Given the description of an element on the screen output the (x, y) to click on. 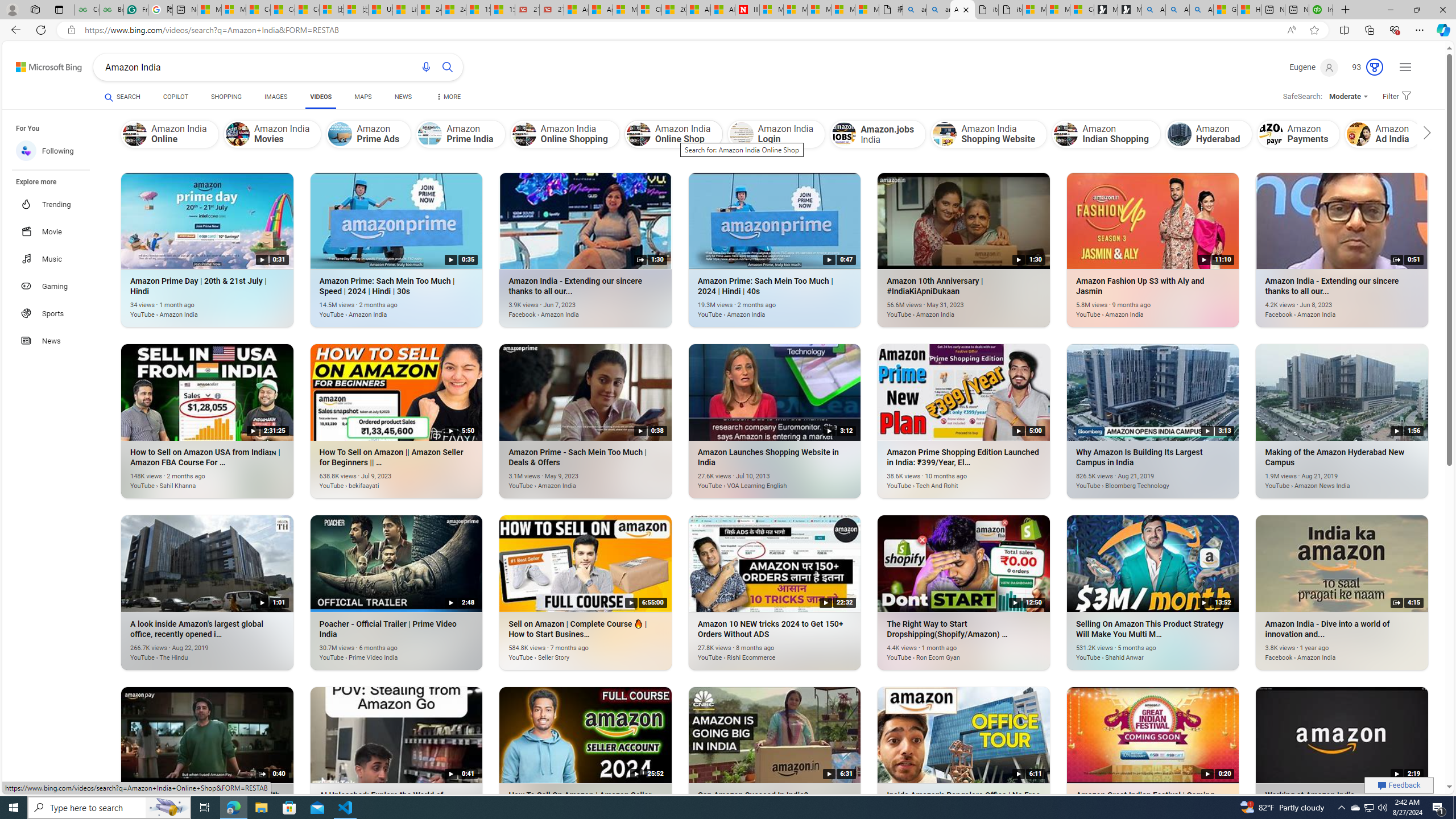
NEWS (403, 98)
Moderate SafeSearch: (1348, 96)
SEARCH (122, 96)
Free AI Writing Assistance for Students | Grammarly (135, 9)
Amazon Fashion Up S3 with Aly and Jasmin (1135, 308)
Moderate (1348, 96)
Amazon India Online Shopping (563, 134)
